Given the description of an element on the screen output the (x, y) to click on. 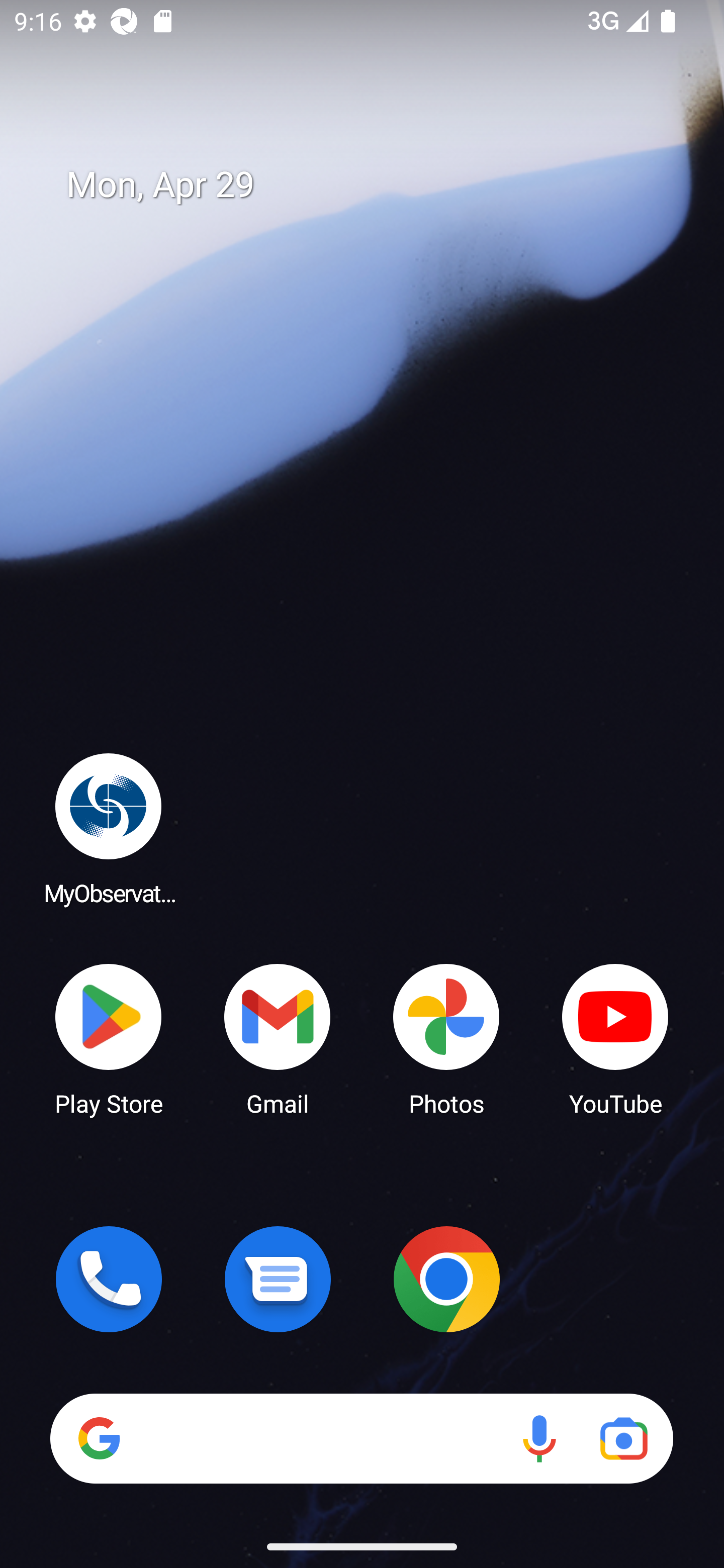
Mon, Apr 29 (375, 184)
MyObservatory (108, 828)
Play Store (108, 1038)
Gmail (277, 1038)
Photos (445, 1038)
YouTube (615, 1038)
Phone (108, 1279)
Messages (277, 1279)
Chrome (446, 1279)
Voice search (539, 1438)
Google Lens (623, 1438)
